Given the description of an element on the screen output the (x, y) to click on. 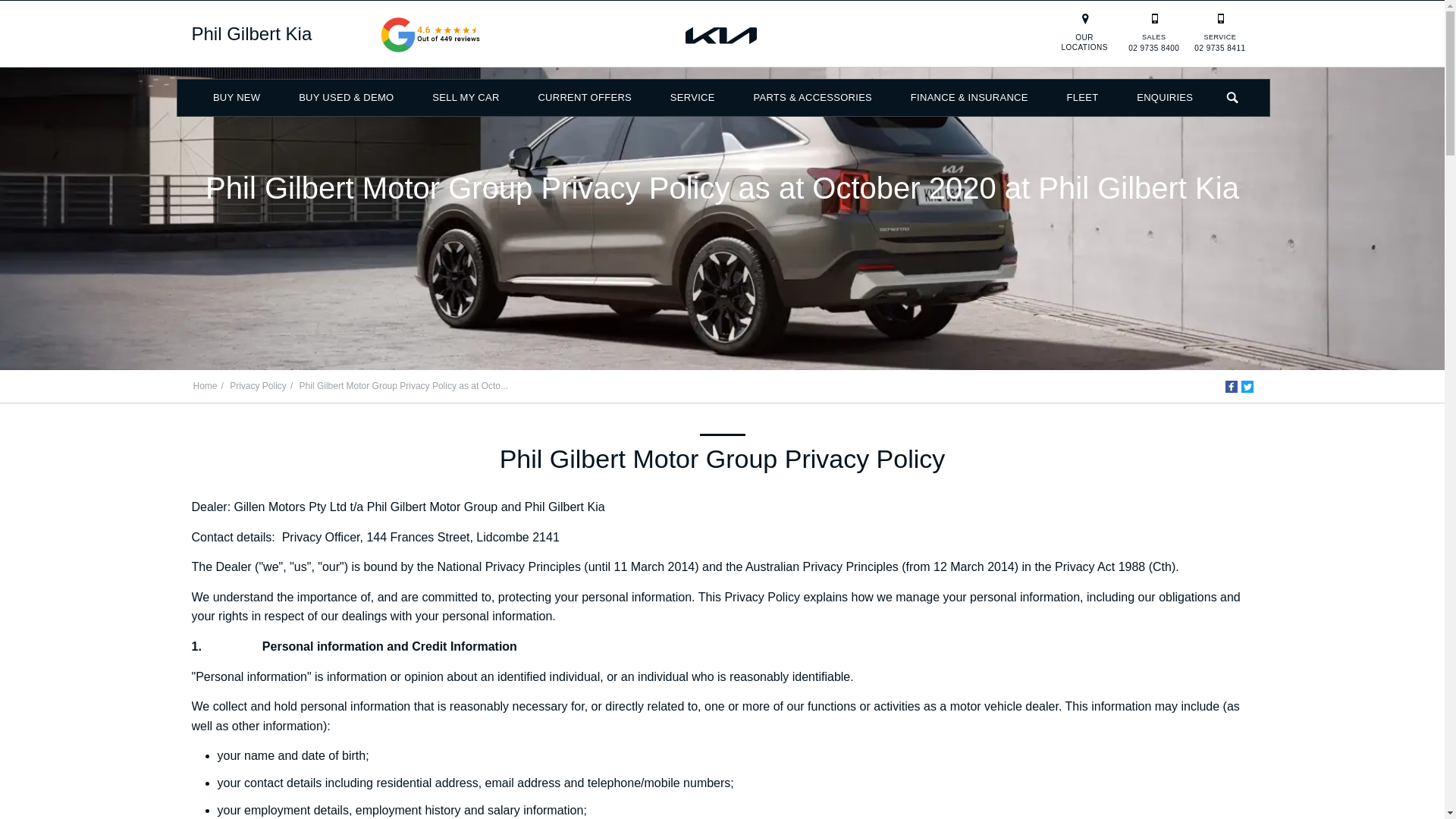
Phil Gilbert Kia (250, 34)
Phil Gilbert Kia (722, 34)
Facebook (1231, 386)
BUY NEW (236, 97)
Phil Gilbert Kia (250, 34)
Twitter (1246, 386)
